Given the description of an element on the screen output the (x, y) to click on. 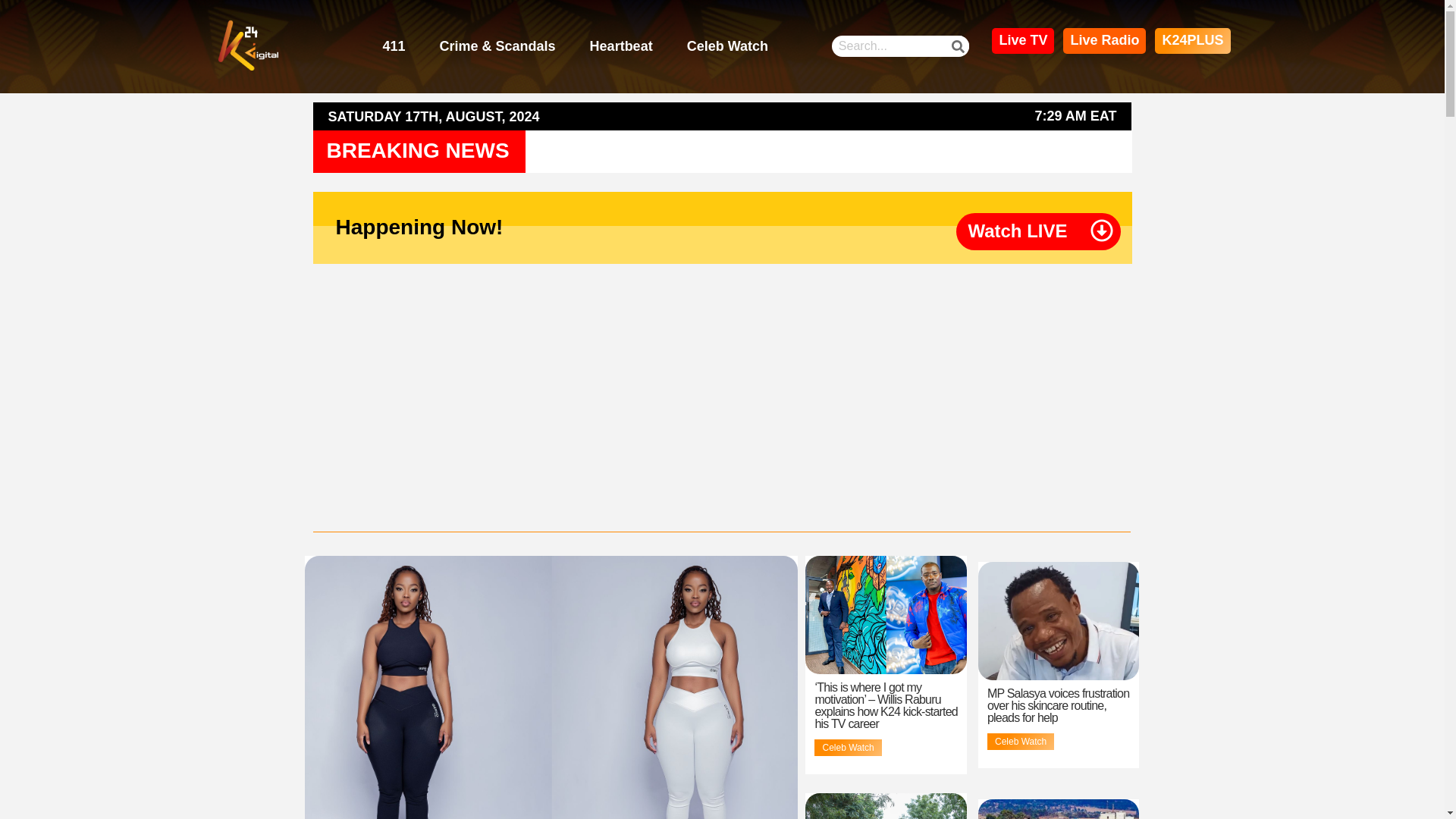
K24PLUS (1192, 40)
Live Radio (1103, 40)
Watch LIVE (1017, 230)
Celeb Watch (727, 46)
Live TV (1022, 40)
